Given the description of an element on the screen output the (x, y) to click on. 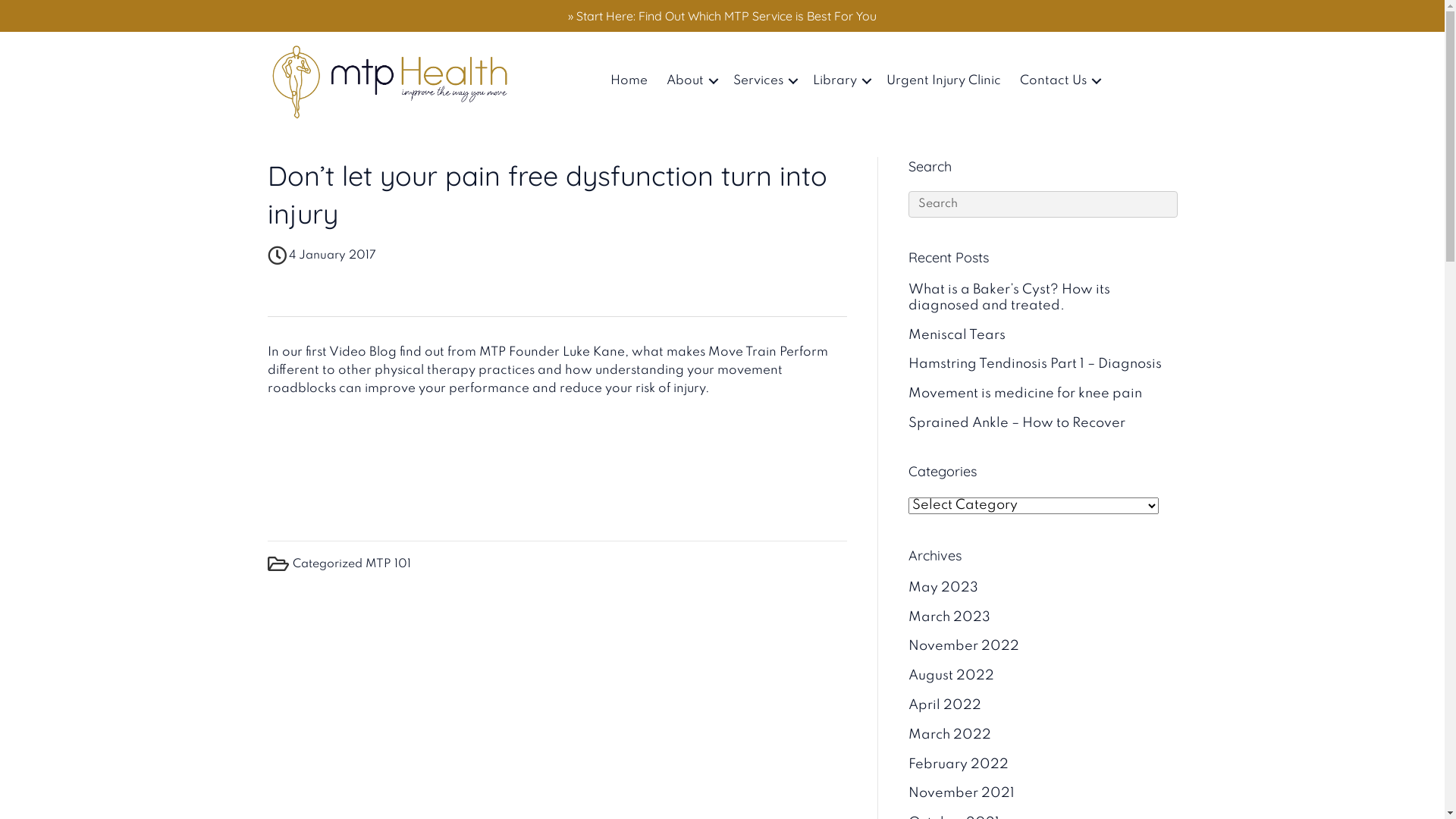
Urgent Injury Clinic Element type: text (943, 80)
March 2022 Element type: text (949, 734)
May 2023 Element type: text (943, 587)
Movement is medicine for knee pain Element type: text (1025, 393)
MTP 101 Element type: text (388, 564)
February 2022 Element type: text (958, 764)
Contact Us Element type: text (1058, 80)
Library Element type: text (839, 80)
Home Element type: text (628, 80)
Services Element type: text (763, 80)
November 2021 Element type: text (961, 793)
November 2022 Element type: text (963, 645)
Meniscal Tears Element type: text (956, 335)
August 2022 Element type: text (951, 675)
About Element type: text (690, 80)
Type and press Enter to search. Element type: hover (1042, 204)
March 2023 Element type: text (949, 617)
April 2022 Element type: text (944, 705)
